Given the description of an element on the screen output the (x, y) to click on. 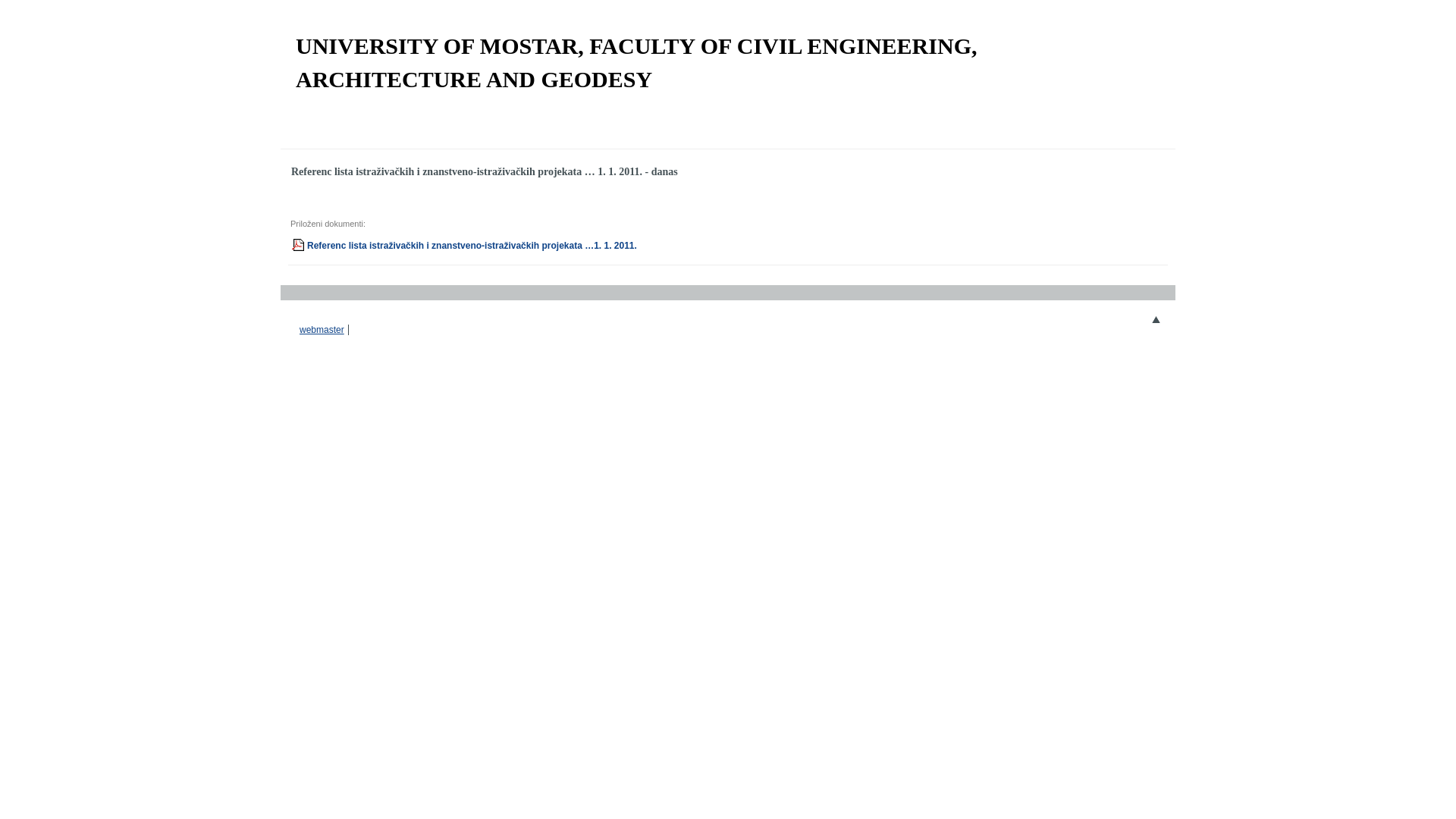
webmaster Element type: text (321, 329)
